Given the description of an element on the screen output the (x, y) to click on. 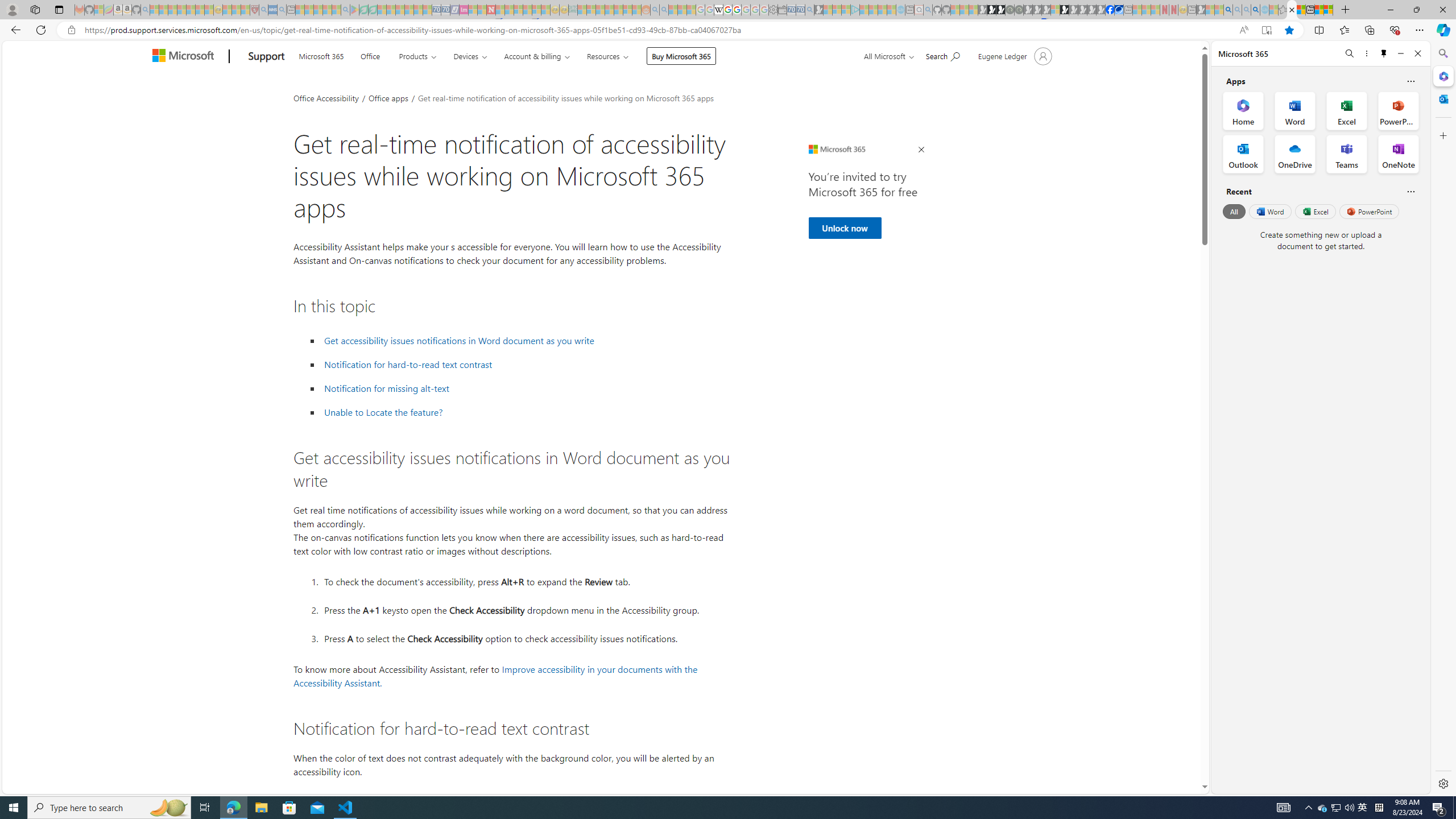
OneDrive Office App (1295, 154)
Close Microsoft 365 pane (1442, 76)
Enter Immersive Reader (F9) (1266, 29)
Bing AI - Search (1227, 9)
Buy Microsoft 365 (681, 55)
Settings - Sleeping (773, 9)
Expert Portfolios - Sleeping (608, 9)
Office (369, 54)
New Report Confirms 2023 Was Record Hot | Watch - Sleeping (191, 9)
